Given the description of an element on the screen output the (x, y) to click on. 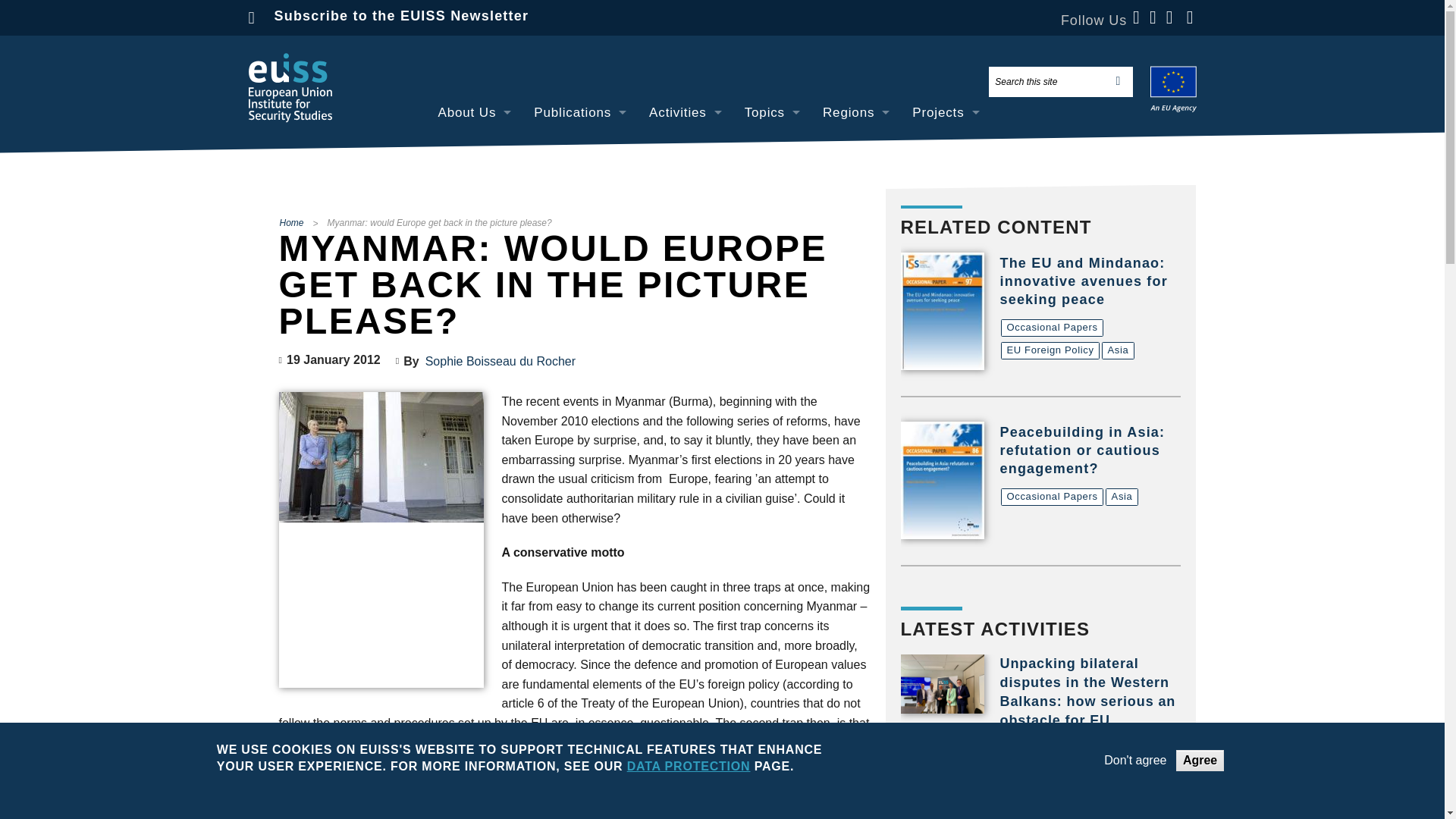
EUROPEAN UNION INSTITUTE FOR SECURITY STUDIES (289, 87)
Analyst Team (474, 214)
Briefs (579, 214)
Chaillot Papers (579, 146)
Security and defence (771, 214)
Podcast (685, 283)
The EUISS (474, 146)
Global governance (771, 180)
Task Forces (685, 214)
Commentaries (579, 180)
Download image (381, 457)
Seminars (685, 180)
Reports (579, 283)
Subscribe to the EUISS Newsletter (402, 15)
Activities (685, 112)
